Given the description of an element on the screen output the (x, y) to click on. 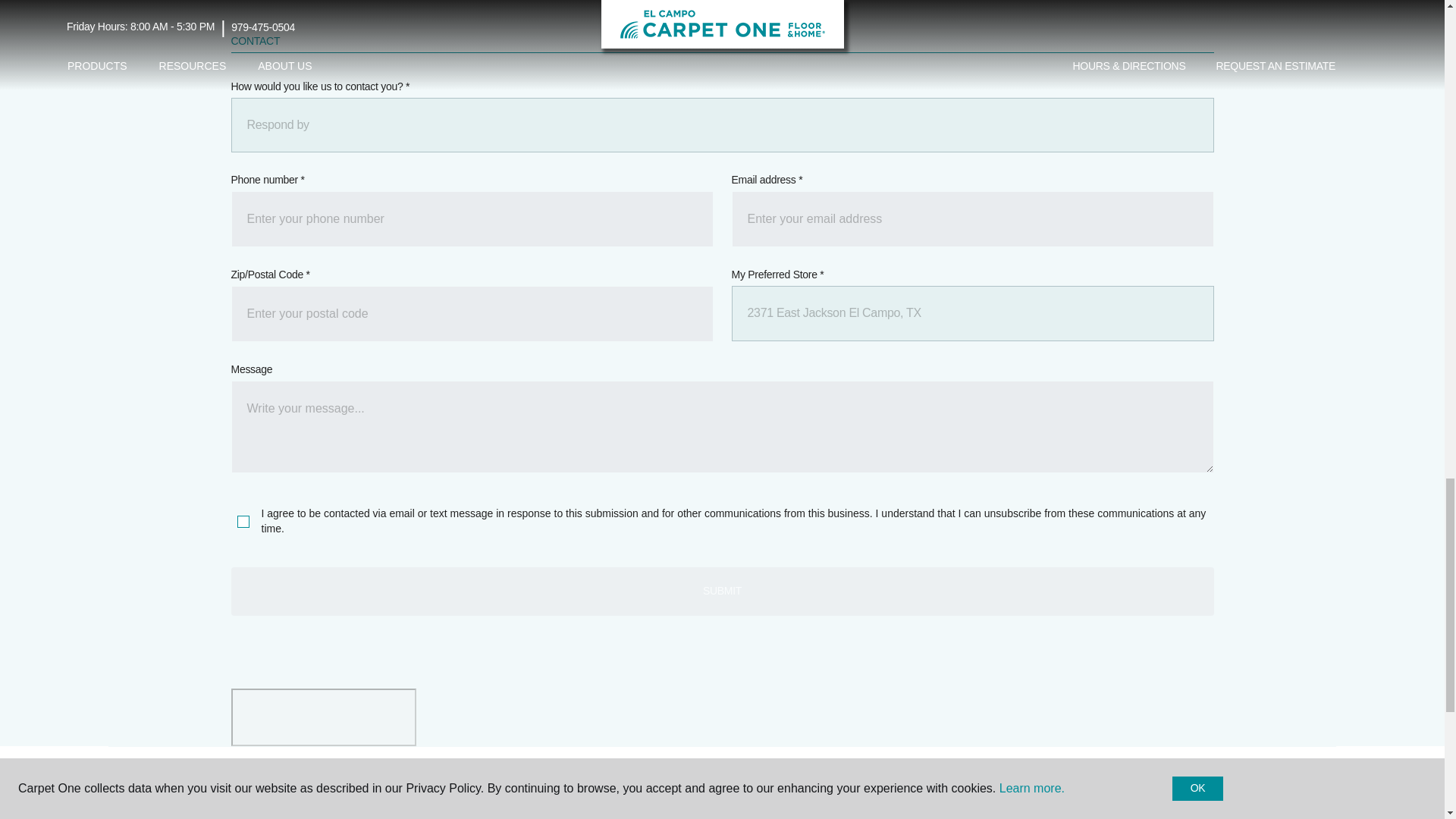
MyMessage (721, 426)
CleanHomePhone (471, 218)
EmailAddress (971, 218)
PostalCode (471, 313)
